Given the description of an element on the screen output the (x, y) to click on. 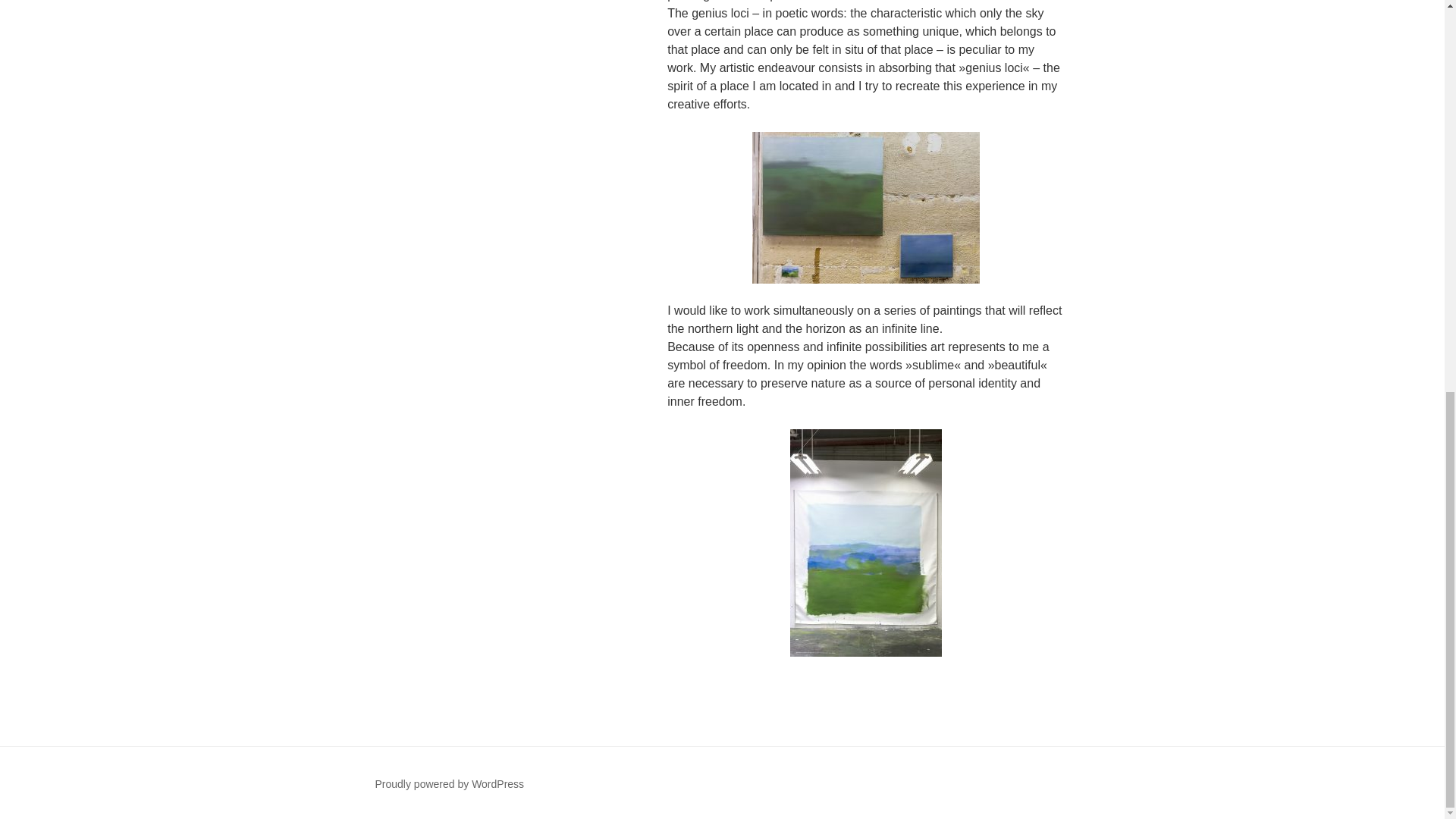
Proudly powered by WordPress (449, 784)
